Given the description of an element on the screen output the (x, y) to click on. 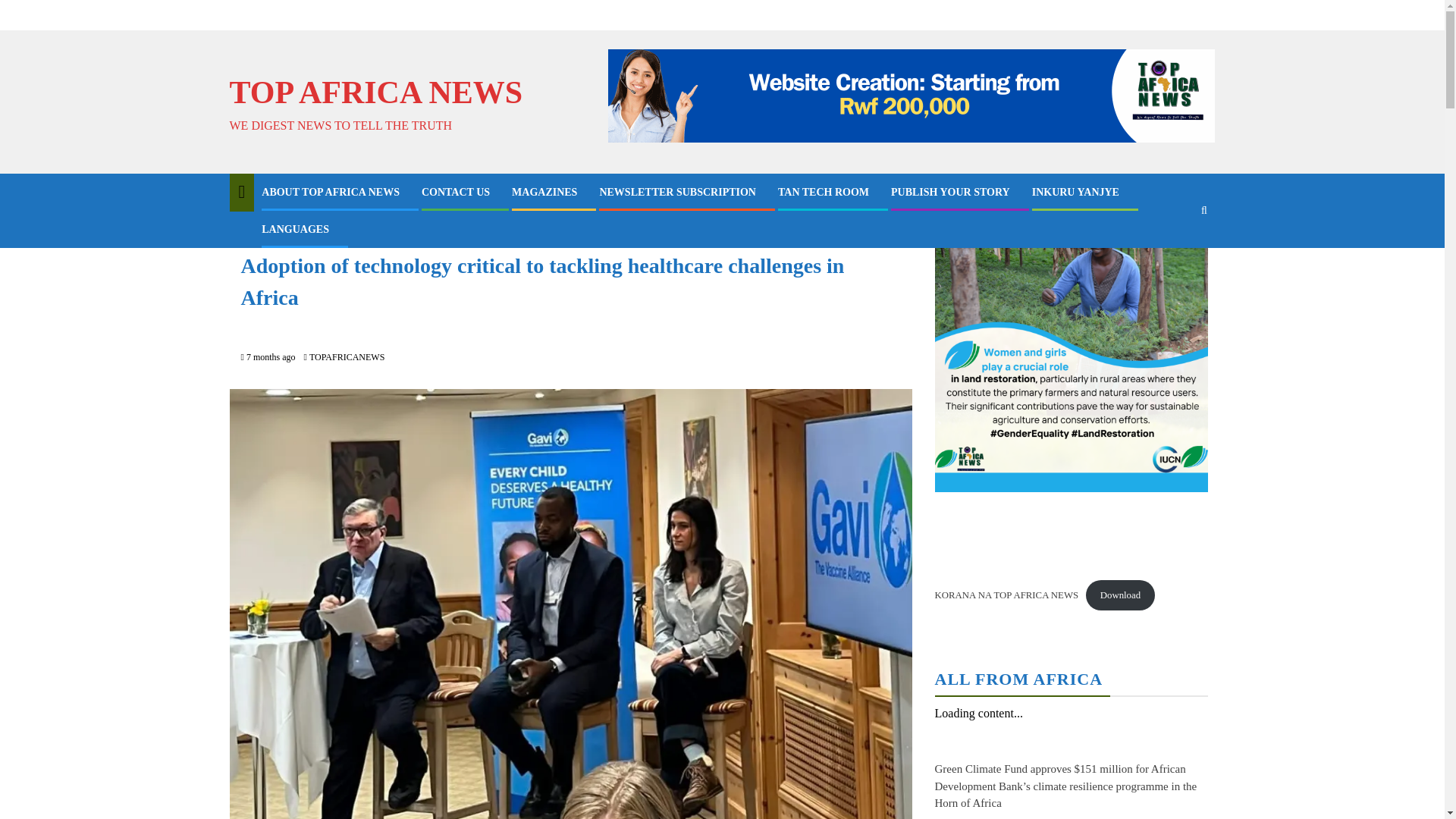
NEWSLETTER SUBSCRIPTION (676, 192)
CONTACT US (455, 192)
INKURU YANJYE (1075, 192)
TAN TECH ROOM (823, 192)
Search (1174, 256)
TOP AFRICA NEWS (375, 92)
MAGAZINES (544, 192)
LANGUAGES (295, 229)
PUBLISH YOUR STORY (950, 192)
HEALTH (261, 233)
